Given the description of an element on the screen output the (x, y) to click on. 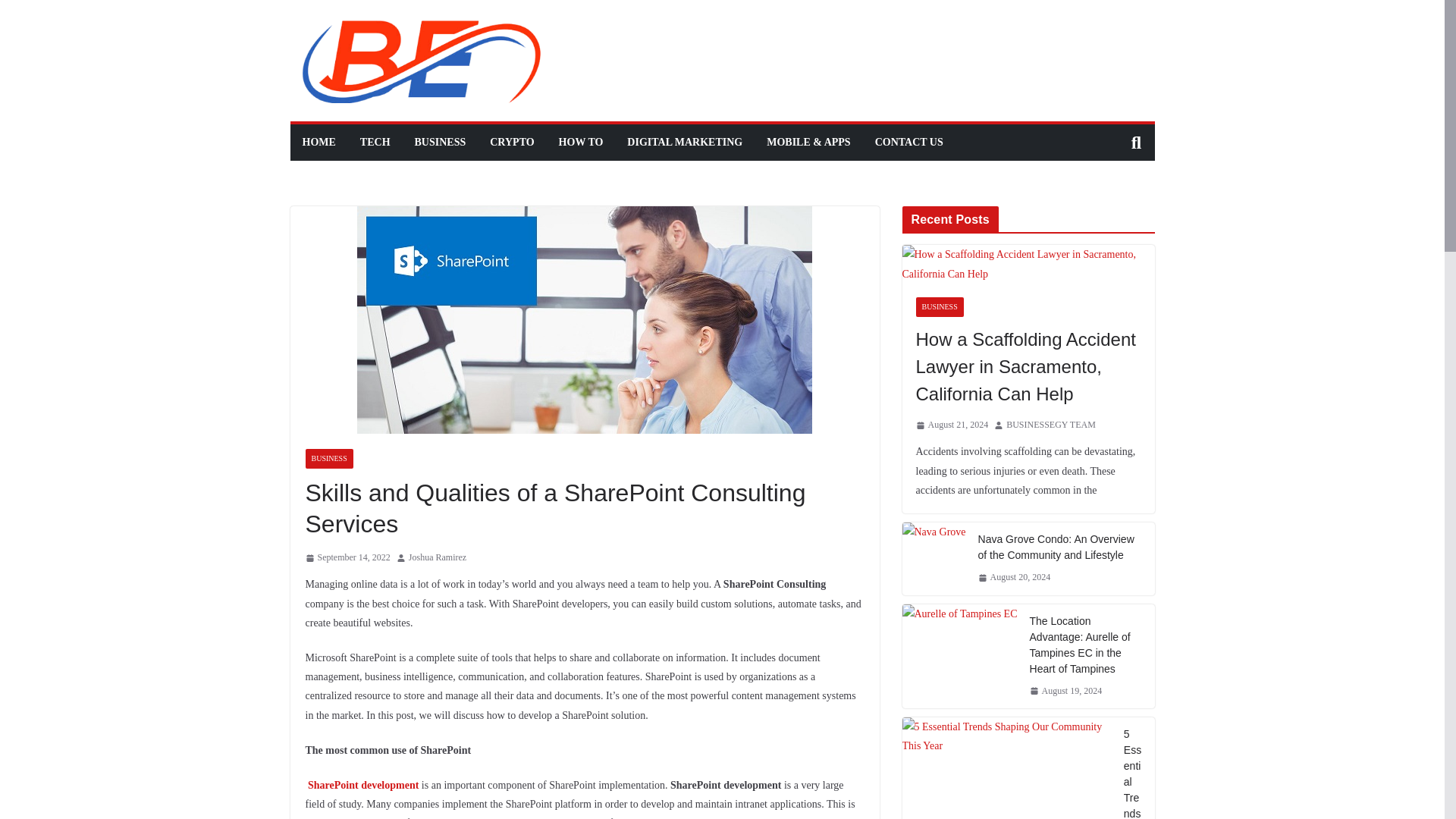
BUSINESS (439, 142)
3:15 pm (347, 557)
DIGITAL MARKETING (684, 142)
August 20, 2024 (1014, 577)
CONTACT US (909, 142)
HOME (317, 142)
TECH (374, 142)
HOW TO (581, 142)
BUSINESSEGY TEAM (1051, 425)
BUSINESS (328, 458)
